Given the description of an element on the screen output the (x, y) to click on. 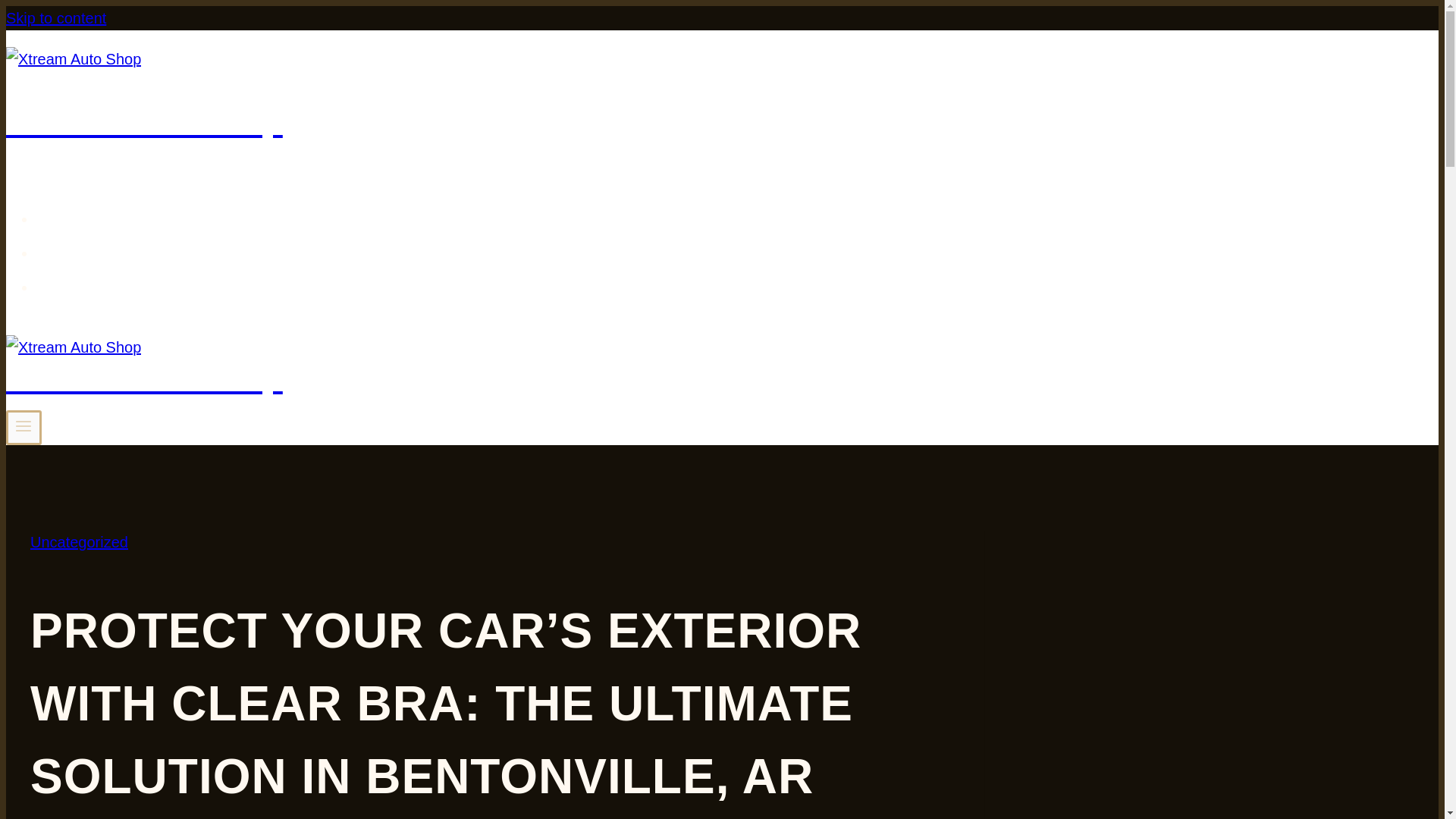
Skip to content (55, 17)
Uncategorized (79, 541)
Xtream Auto Shop (494, 368)
Skip to content (55, 17)
TOGGLE MENU (23, 425)
BLOG (81, 285)
TOGGLE MENU (23, 427)
HOME (84, 217)
Xtream Auto Shop (494, 95)
ABOUT (89, 251)
